Given the description of an element on the screen output the (x, y) to click on. 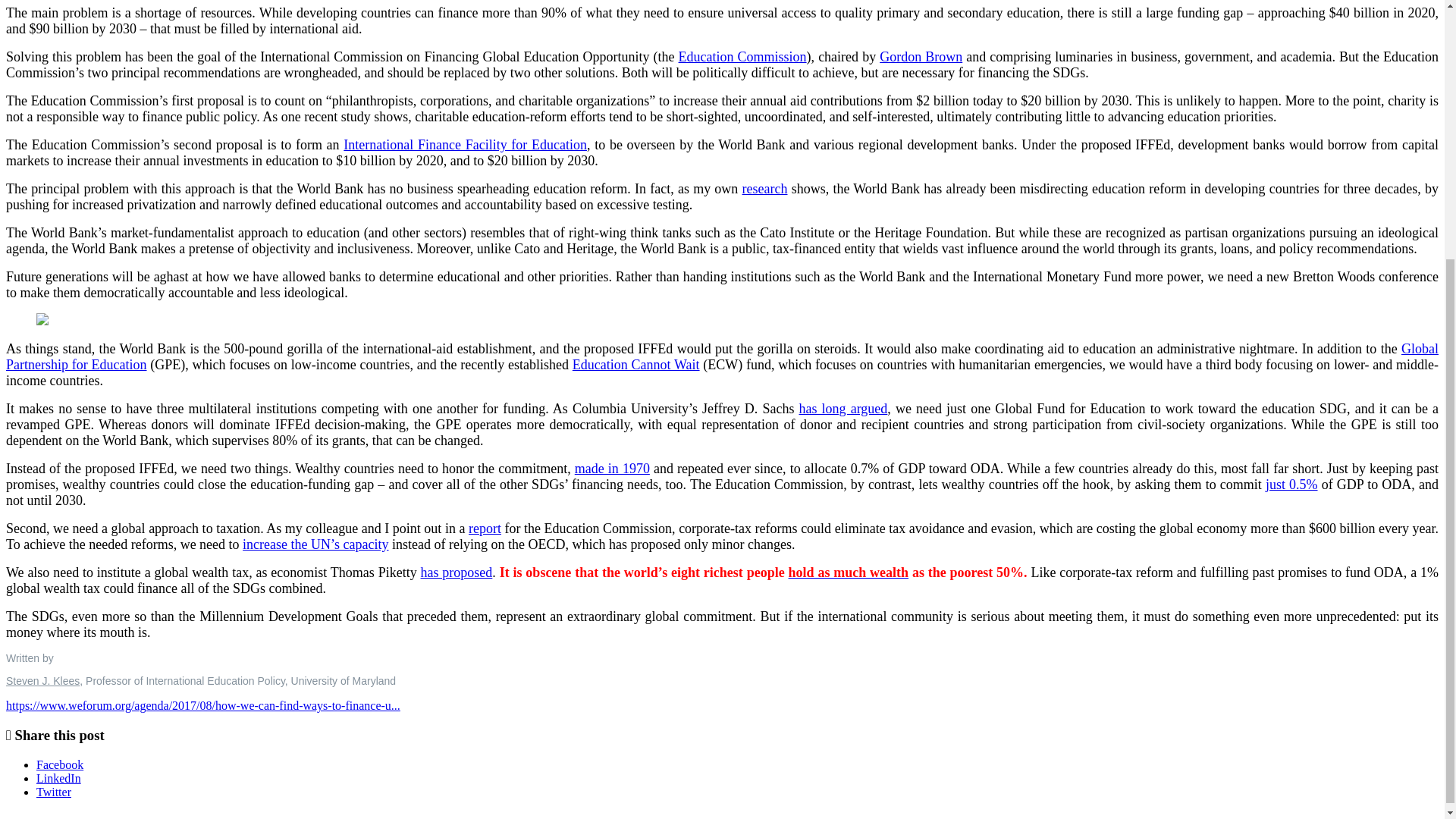
Twitter (53, 791)
has long argued (843, 408)
Share to Facebook (59, 764)
research (764, 188)
Facebook (59, 764)
Share to Twitter (53, 791)
Share to LinkedIn (58, 778)
Steven J. Klees (42, 680)
Gordon Brown (920, 56)
has proposed (456, 572)
report (484, 528)
Education Cannot Wait (636, 364)
LinkedIn (58, 778)
hold as much wealth (848, 572)
made in 1970 (612, 468)
